Given the description of an element on the screen output the (x, y) to click on. 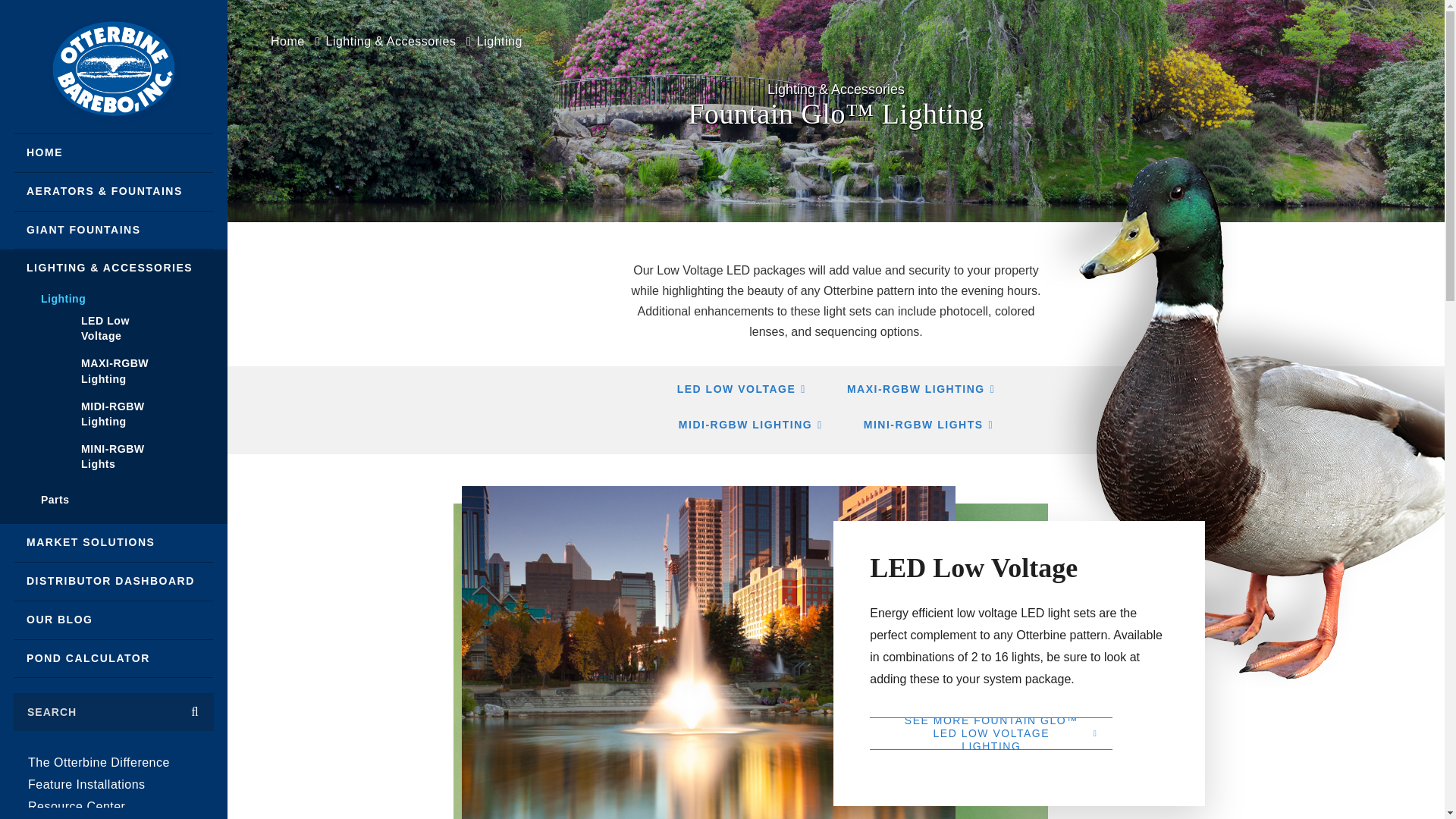
MAXI-RGBW Lighting (113, 370)
GIANT FOUNTAINS (113, 230)
HOME (113, 152)
Lighting (113, 295)
MINI-RGBW Lights (113, 455)
MARKET SOLUTIONS (113, 542)
Parts (113, 504)
LED Low Voltage (113, 328)
MIDI-RGBW Lighting (113, 413)
